Given the description of an element on the screen output the (x, y) to click on. 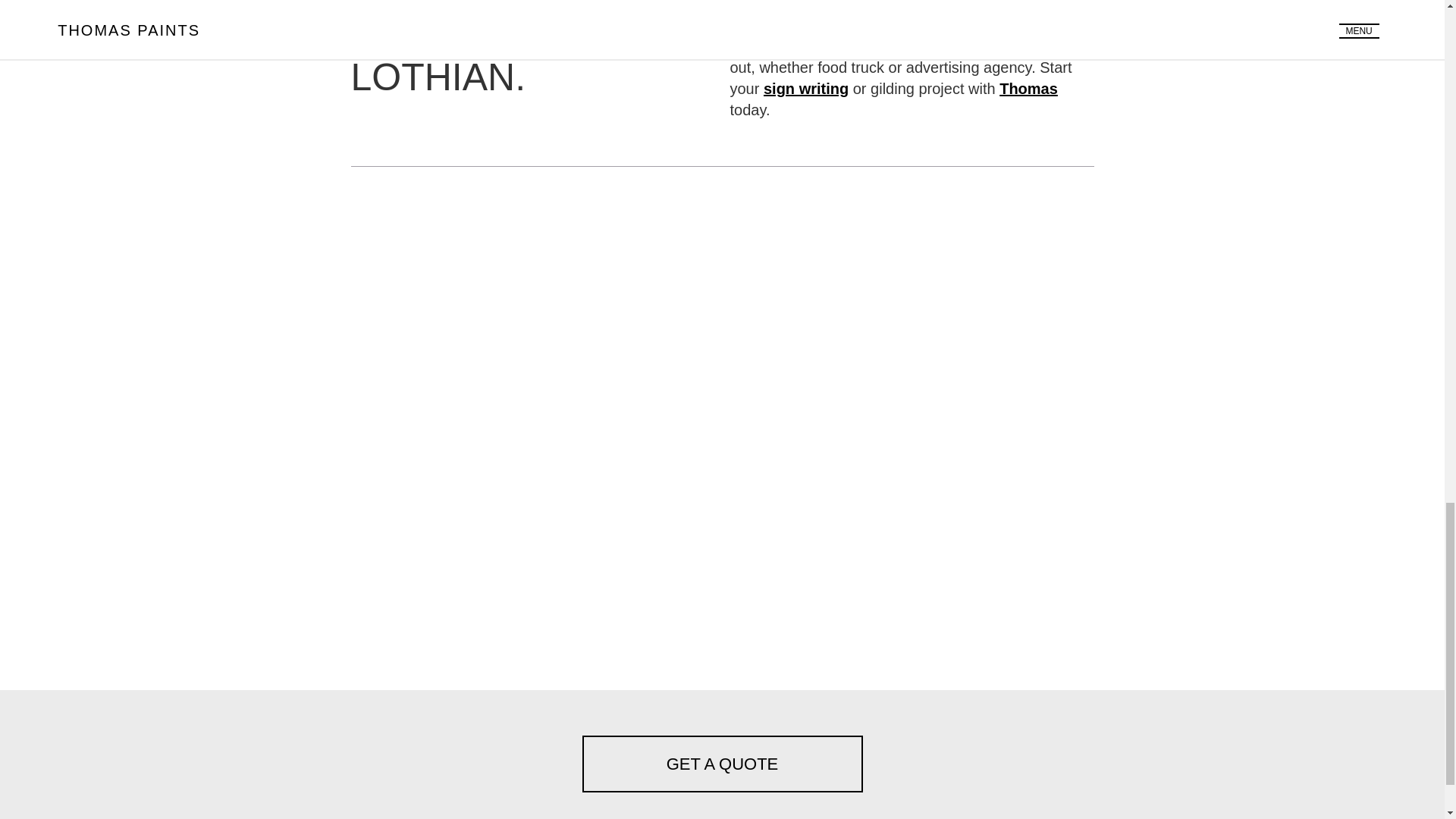
sign writing (805, 88)
Thomas (1028, 88)
GET A QUOTE (722, 763)
